Given the description of an element on the screen output the (x, y) to click on. 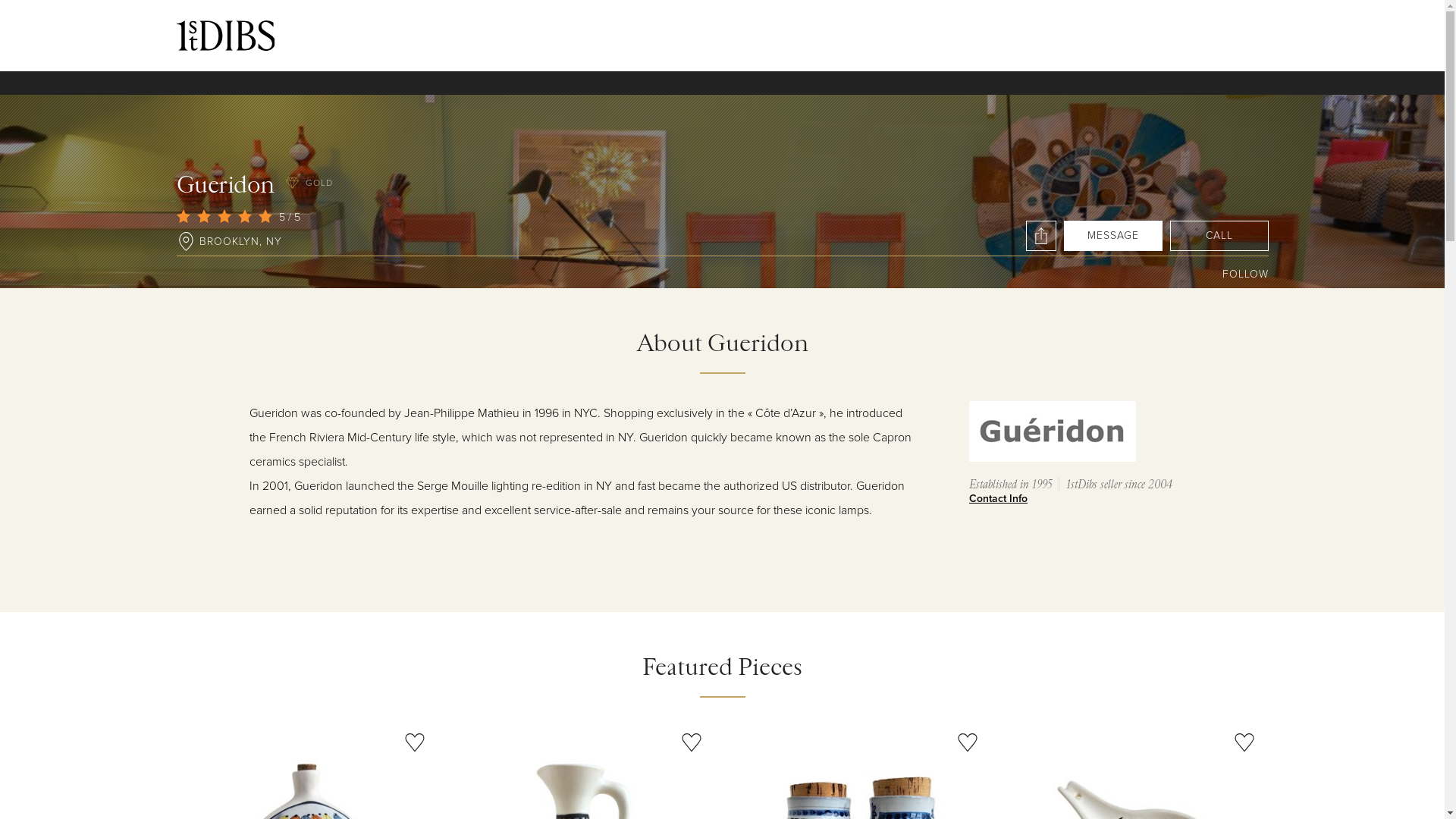
CALL Element type: text (1218, 235)
Contact Info Element type: text (1082, 498)
